Given the description of an element on the screen output the (x, y) to click on. 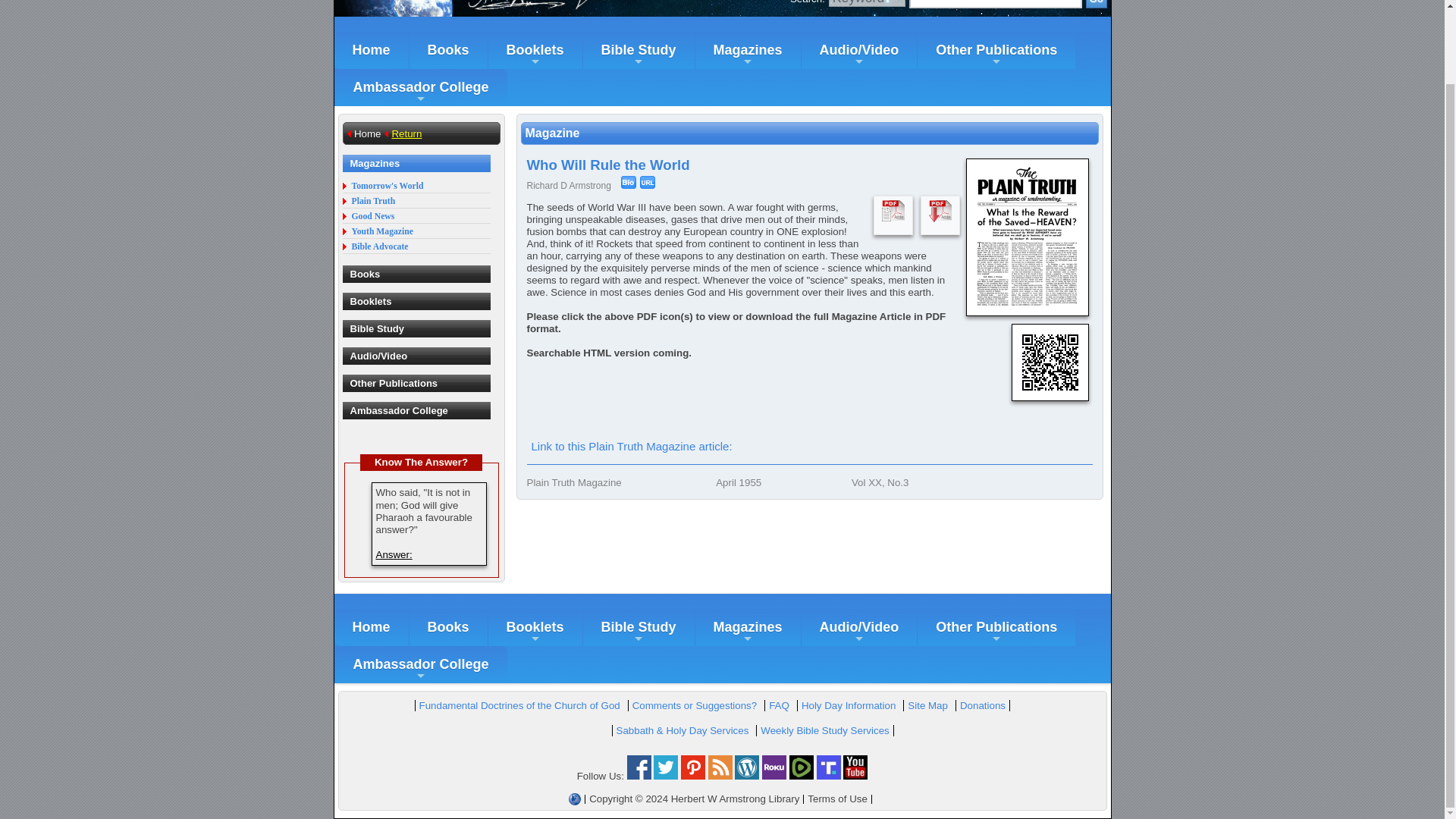
HWALibrary - Rumble (801, 776)
Bible Study (638, 49)
Magazines (747, 49)
HWALibrary - Facebook (638, 776)
Click down arrow to see all 3 search options. (866, 3)
Books (448, 49)
HWALibrary - Pinterest (692, 776)
HWALibrary - Roku TV (773, 776)
Go (1096, 4)
HWALibrary - RSS Feed (719, 776)
HWALibrary - Wordpress (746, 776)
